Given the description of an element on the screen output the (x, y) to click on. 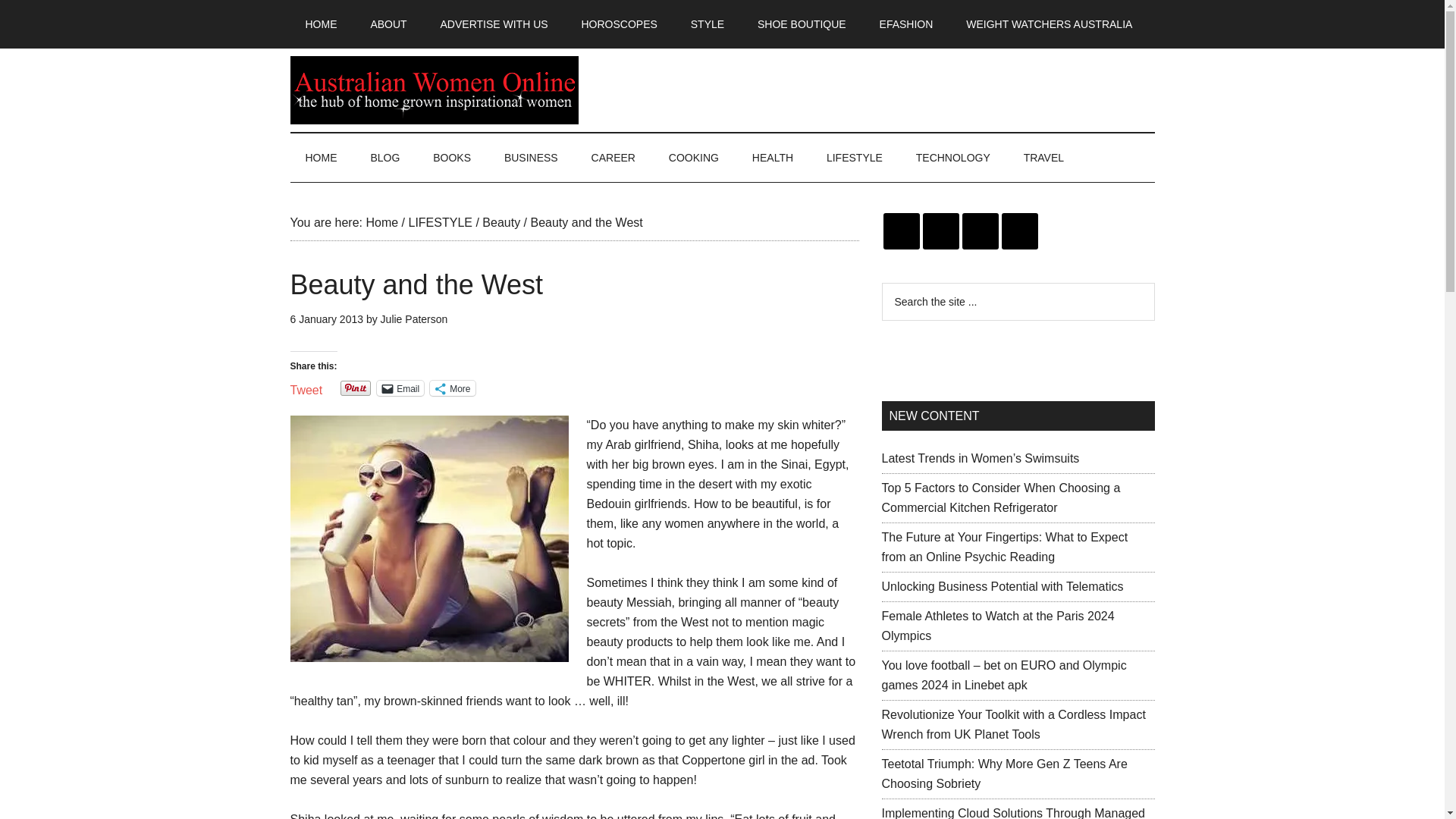
HOME (320, 157)
More (451, 387)
TECHNOLOGY (953, 157)
BOOKS (451, 157)
Australian Women Online (433, 90)
Tweet (305, 386)
COOKING (693, 157)
STYLE (707, 24)
HOROSCOPES (618, 24)
EFASHION (906, 24)
BUSINESS (531, 157)
Julie Paterson (414, 318)
ABOUT (388, 24)
